Given the description of an element on the screen output the (x, y) to click on. 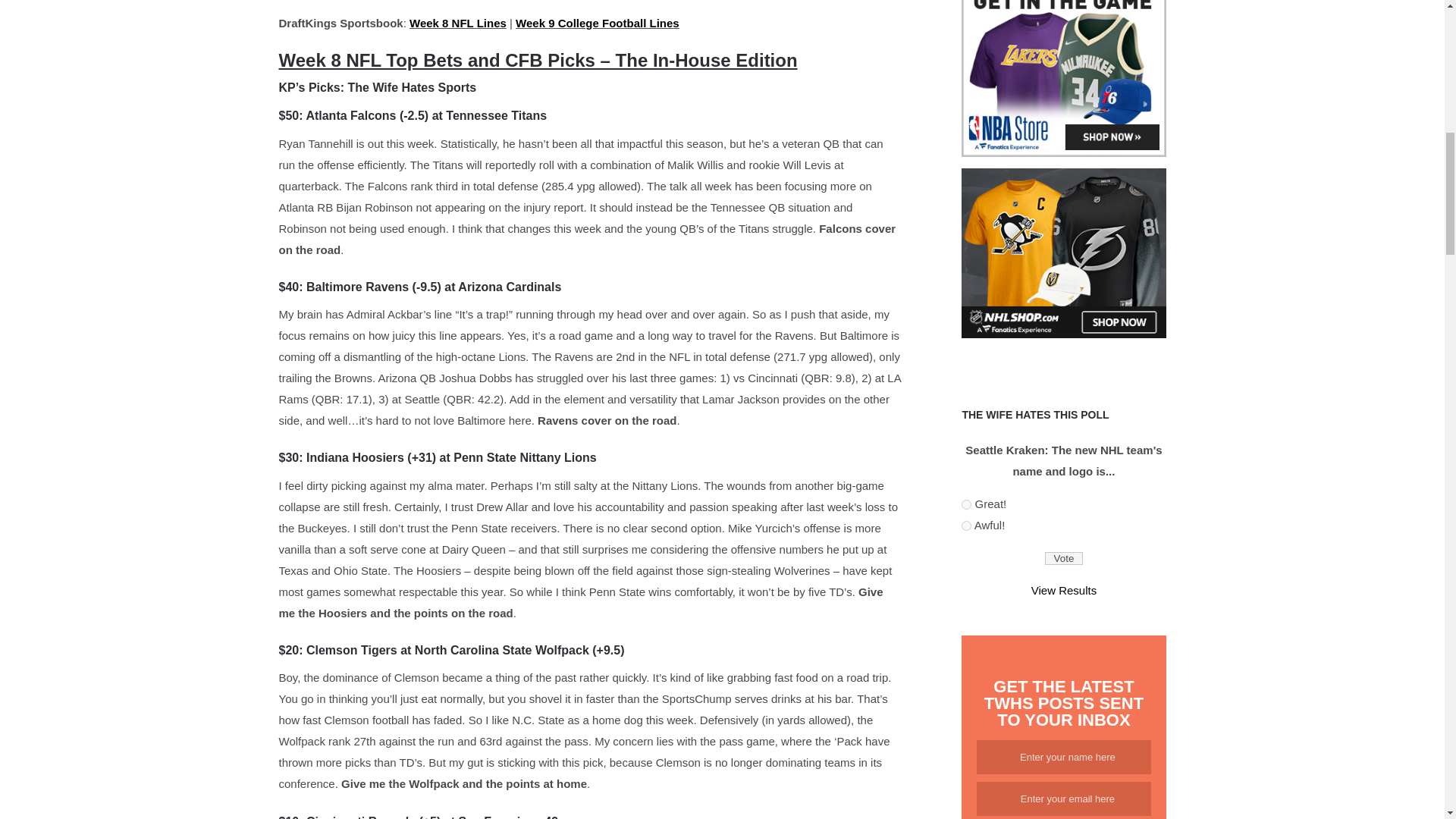
374 (965, 504)
375 (965, 525)
Week 8 NFL Lines (457, 22)
   Vote    (1064, 558)
Week 9 College Football Lines (597, 22)
